Given the description of an element on the screen output the (x, y) to click on. 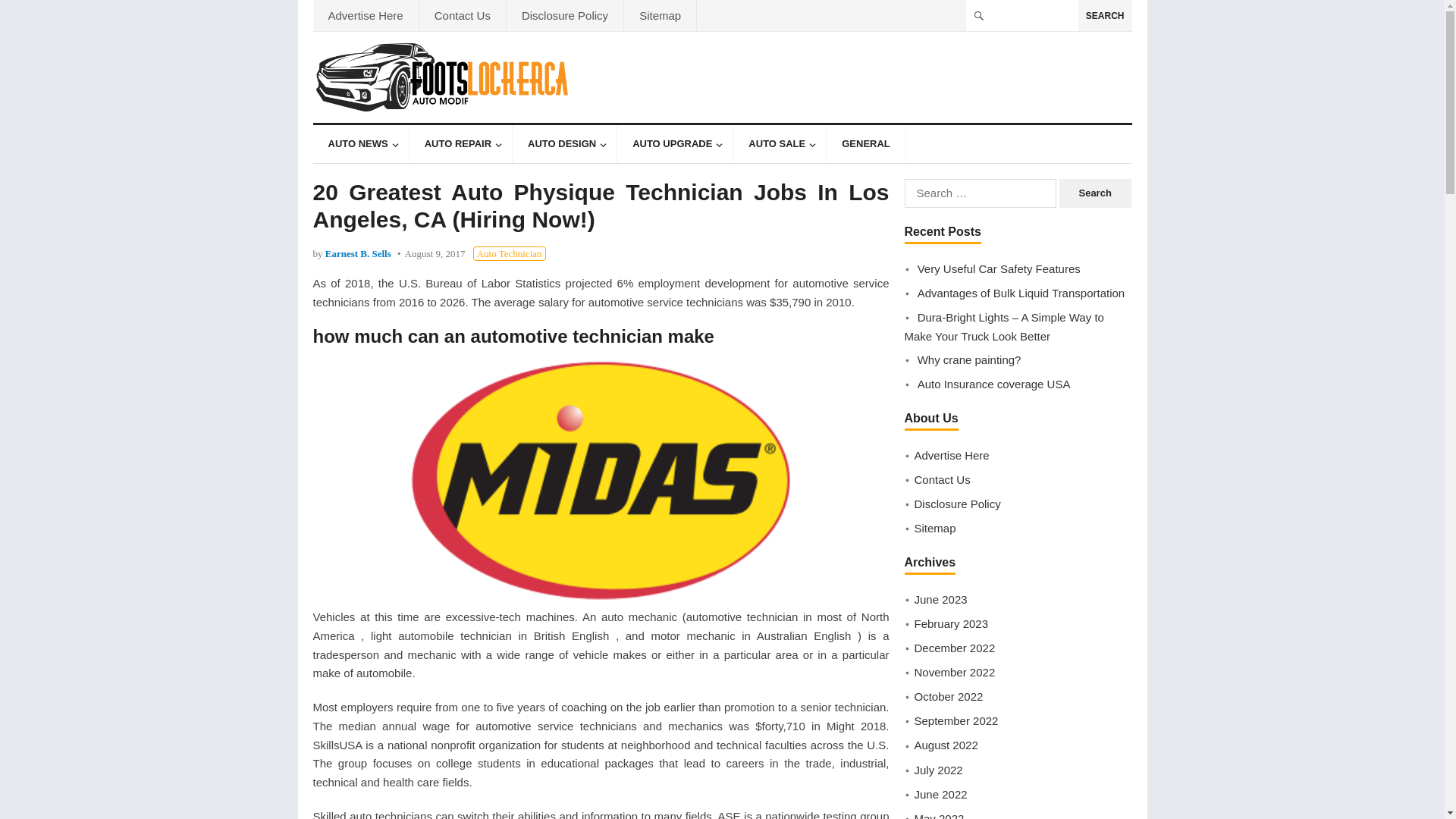
Search (1095, 193)
Disclosure Policy (564, 15)
AUTO NEWS (360, 143)
Posts by Earnest B. Sells (357, 253)
GENERAL (866, 143)
AUTO REPAIR (460, 143)
SEARCH (1105, 15)
Advertise Here (365, 15)
Sitemap (659, 15)
AUTO UPGRADE (674, 143)
Search (1095, 193)
AUTO DESIGN (563, 143)
Contact Us (462, 15)
View all posts in Auto Technician (509, 253)
AUTO SALE (779, 143)
